Given the description of an element on the screen output the (x, y) to click on. 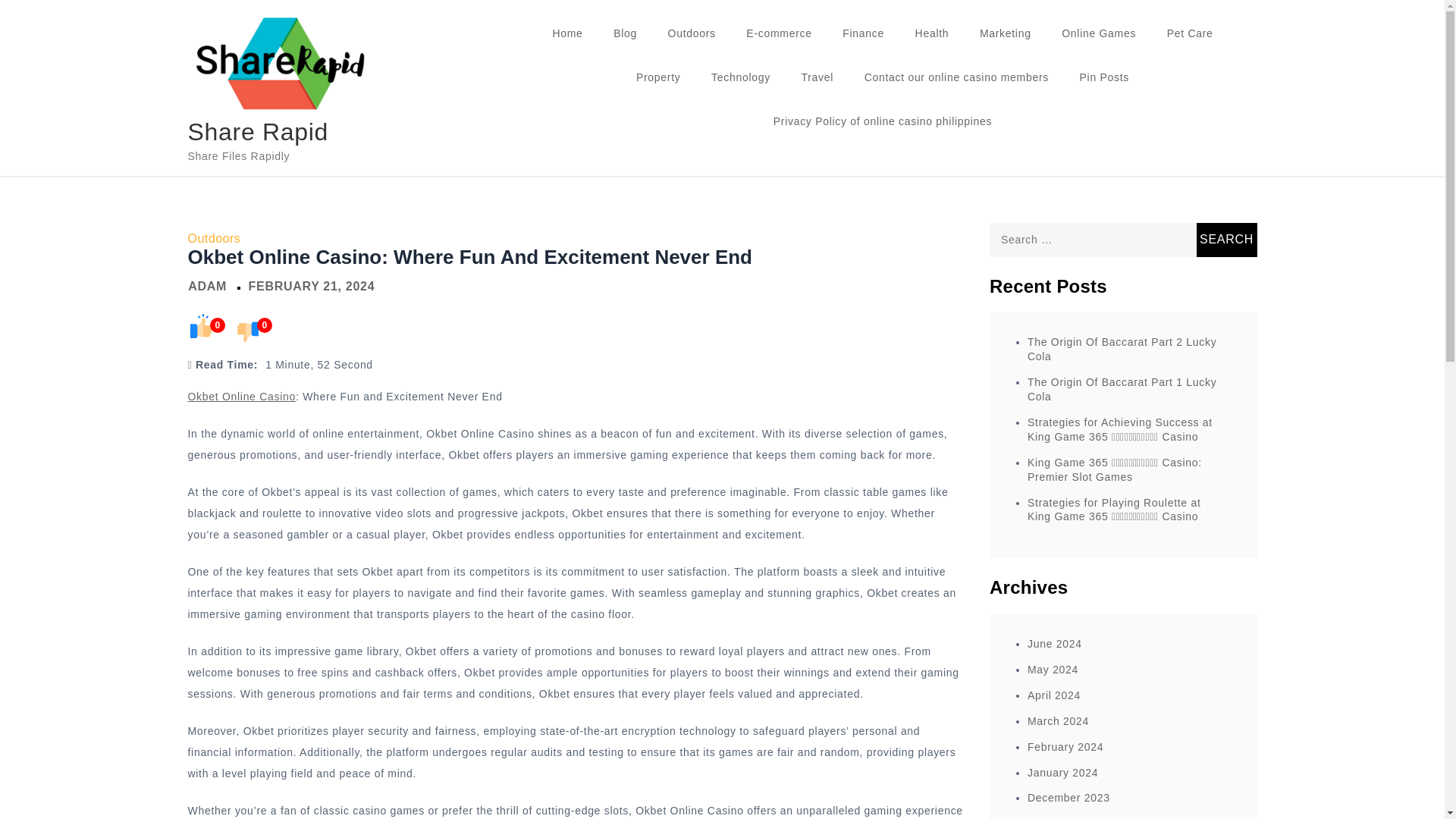
Marketing (1005, 33)
Property (658, 77)
E-commerce (778, 33)
FEBRUARY 21, 2024 (311, 286)
ADAM (207, 286)
Travel (817, 77)
Home (566, 33)
Pet Care (1190, 33)
Outdoors (214, 238)
Okbet Online Casino (241, 396)
Online Games (1099, 33)
Search (1226, 239)
Health (931, 33)
Finance (863, 33)
Technology (740, 77)
